Given the description of an element on the screen output the (x, y) to click on. 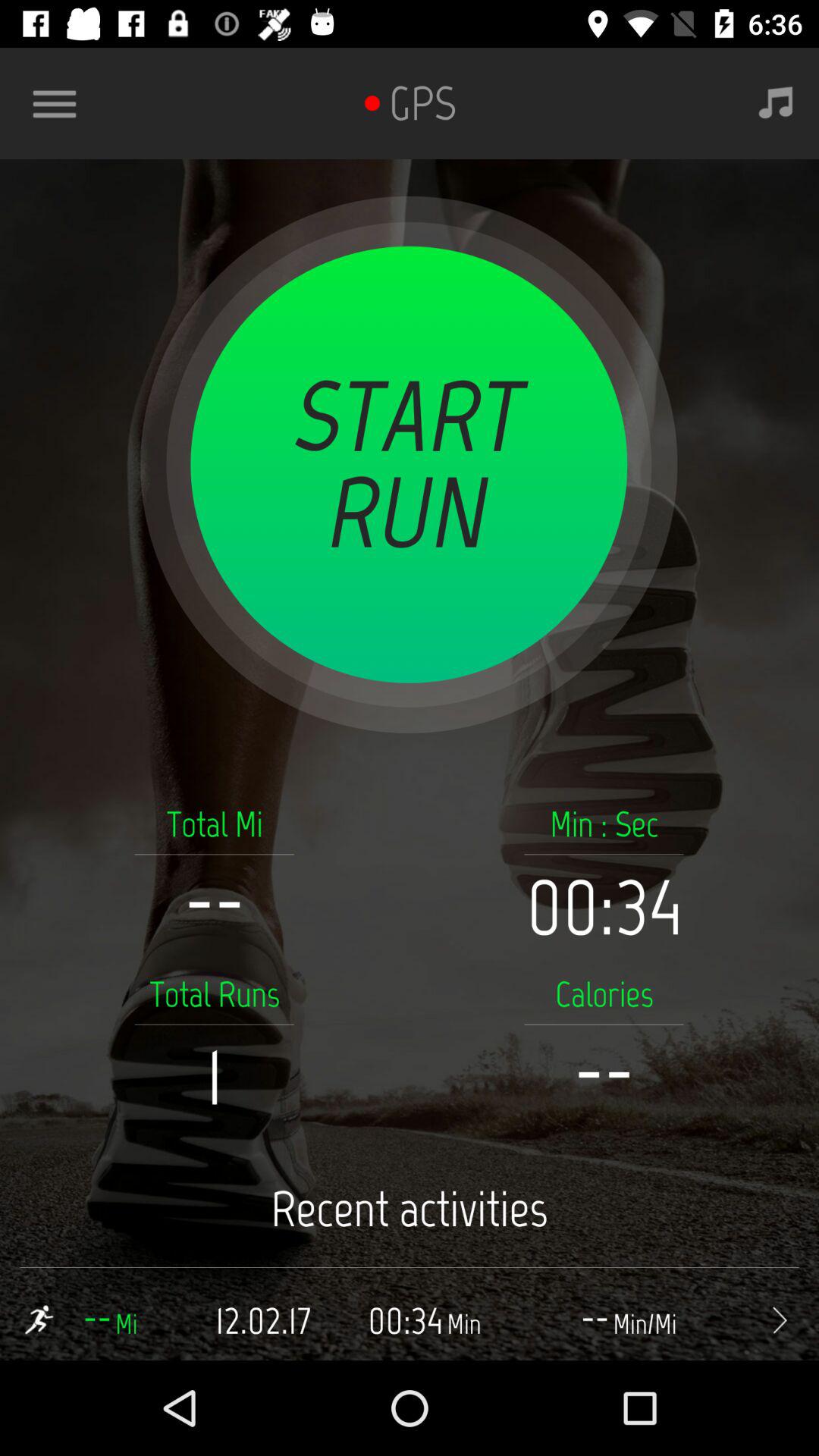
play music option (776, 103)
